Given the description of an element on the screen output the (x, y) to click on. 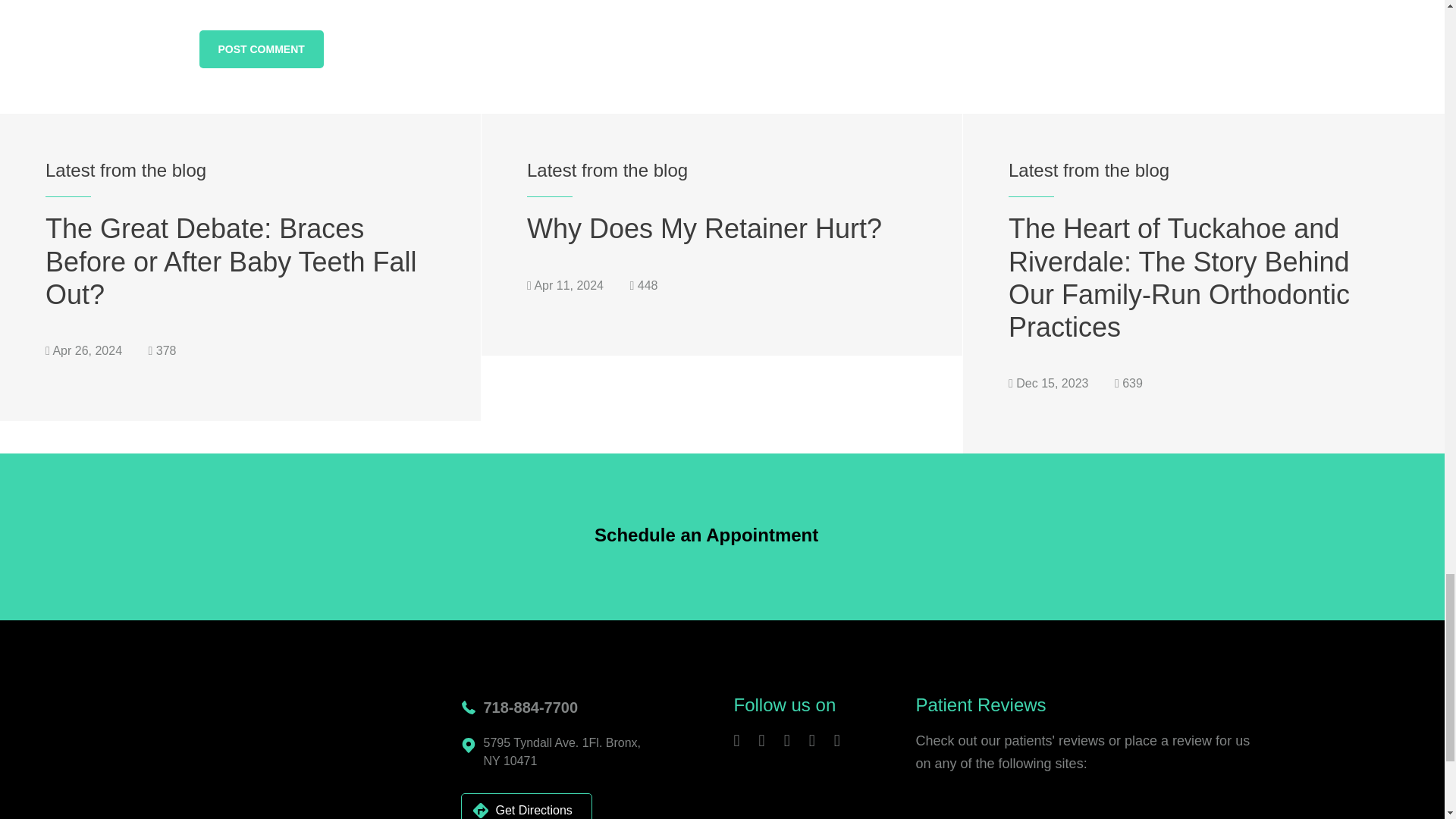
Post Comment (260, 48)
